Given the description of an element on the screen output the (x, y) to click on. 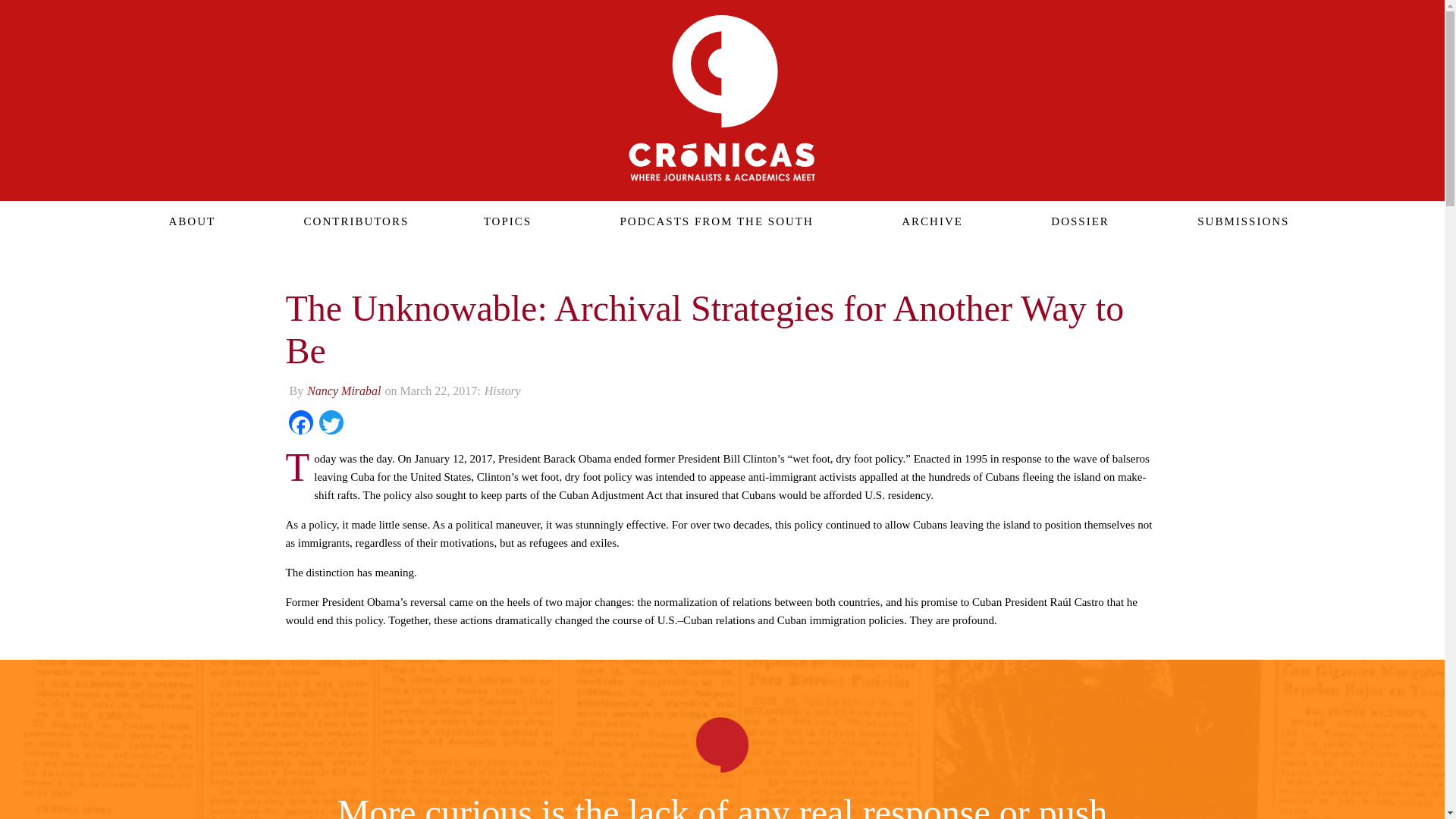
Nancy Mirabal (343, 390)
SUBMISSIONS (1236, 220)
PODCASTS FROM THE SOUTH (709, 220)
Twitter (330, 424)
Facebook (300, 424)
Twitter (330, 424)
ABOUT (184, 220)
Facebook (300, 424)
DOSSIER (1073, 220)
CONTRIBUTORS (350, 220)
Posts by Nancy Mirabal (343, 390)
ARCHIVE (925, 220)
